Given the description of an element on the screen output the (x, y) to click on. 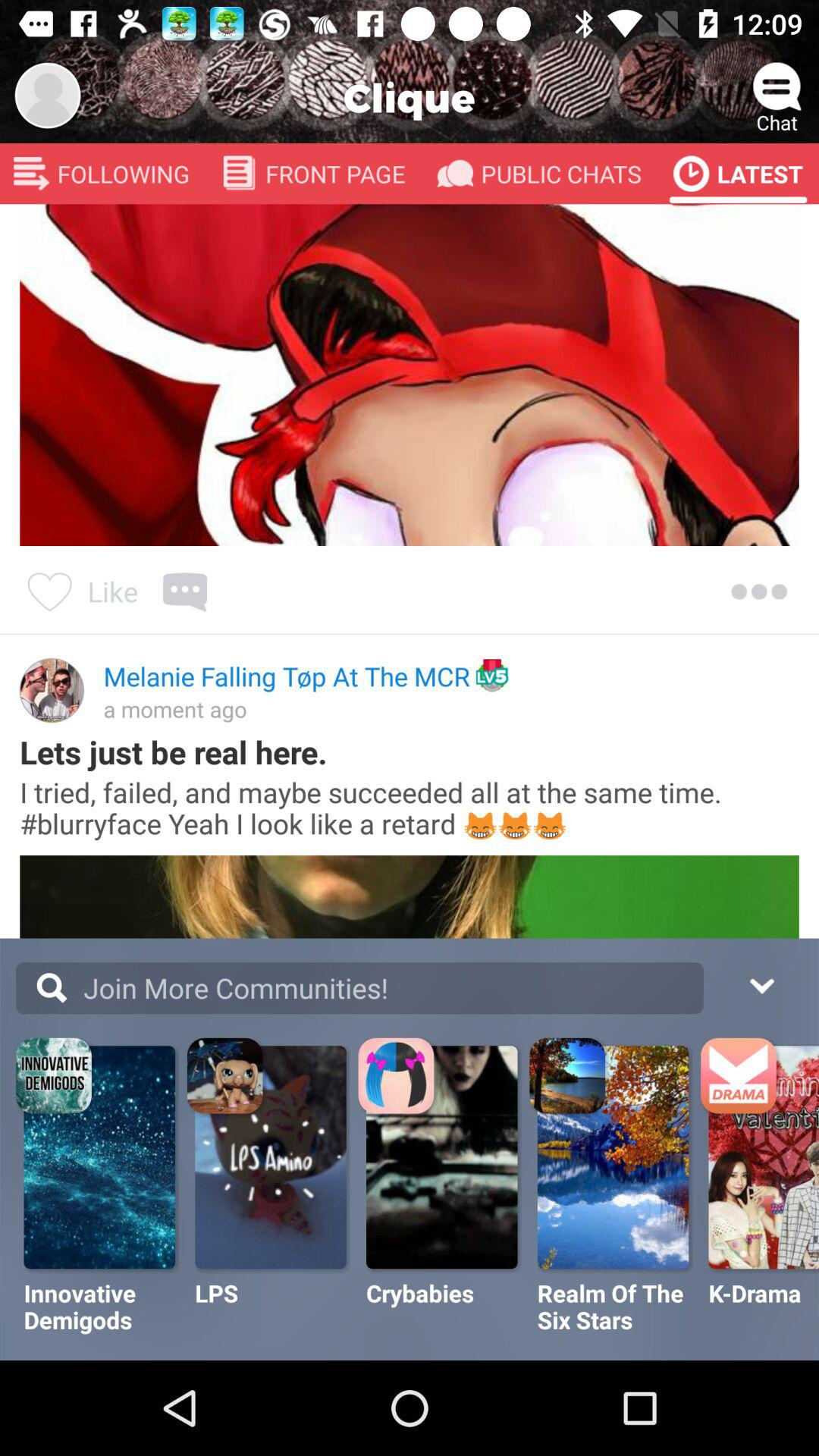
click on the chat icon to the top right corner (777, 87)
click on the text join more communities along with the search button (359, 988)
click the latest  icon (691, 173)
click on mini image which is  above crybabies (398, 1078)
